Given the description of an element on the screen output the (x, y) to click on. 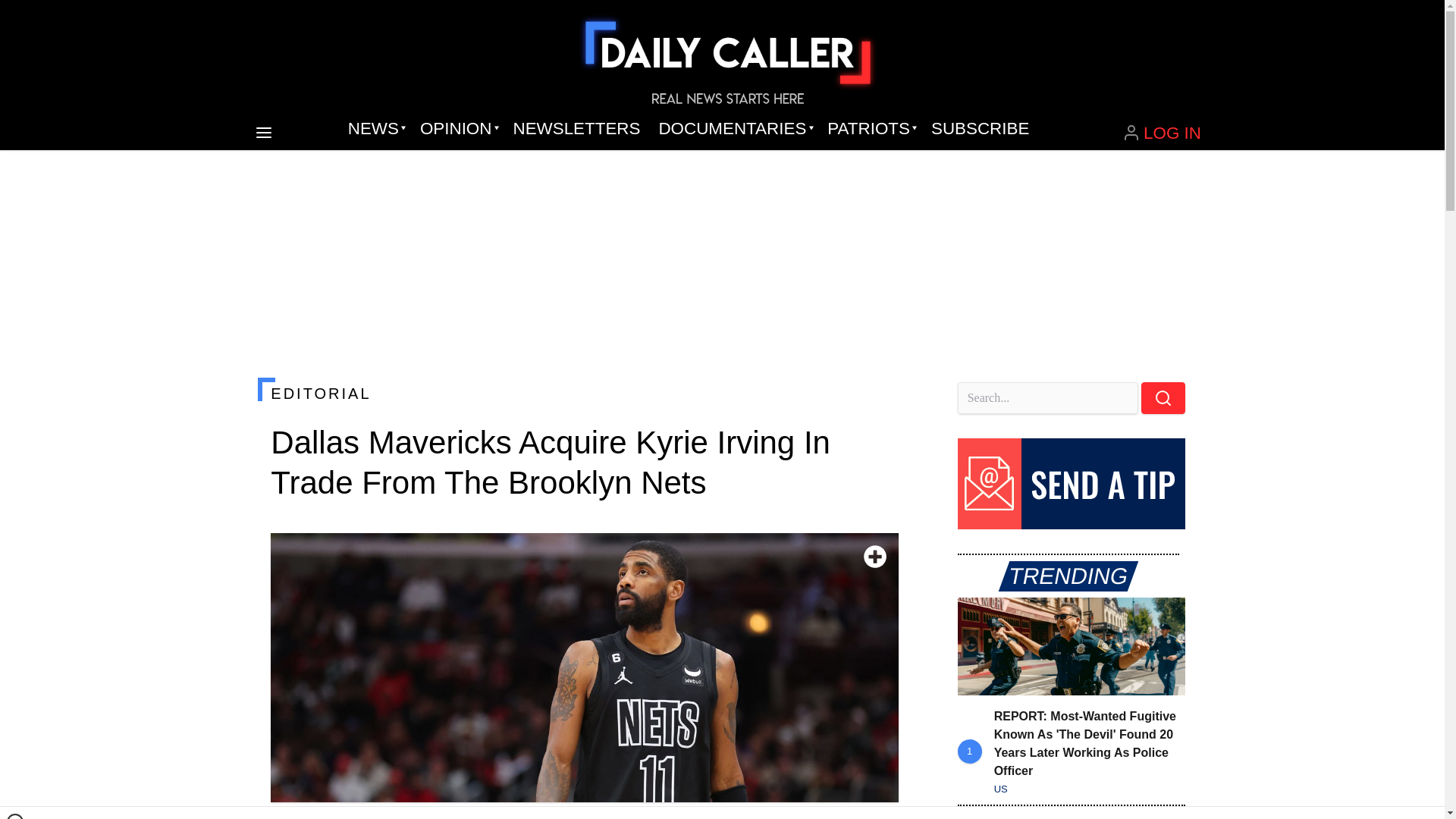
OPINION (456, 128)
Toggle fullscreen (874, 556)
NEWSLETTERS (576, 128)
DOCUMENTARIES (733, 128)
EDITORIAL (584, 393)
NEWS (374, 128)
SUBSCRIBE (979, 128)
PATRIOTS (869, 128)
Close window (14, 816)
